Given the description of an element on the screen output the (x, y) to click on. 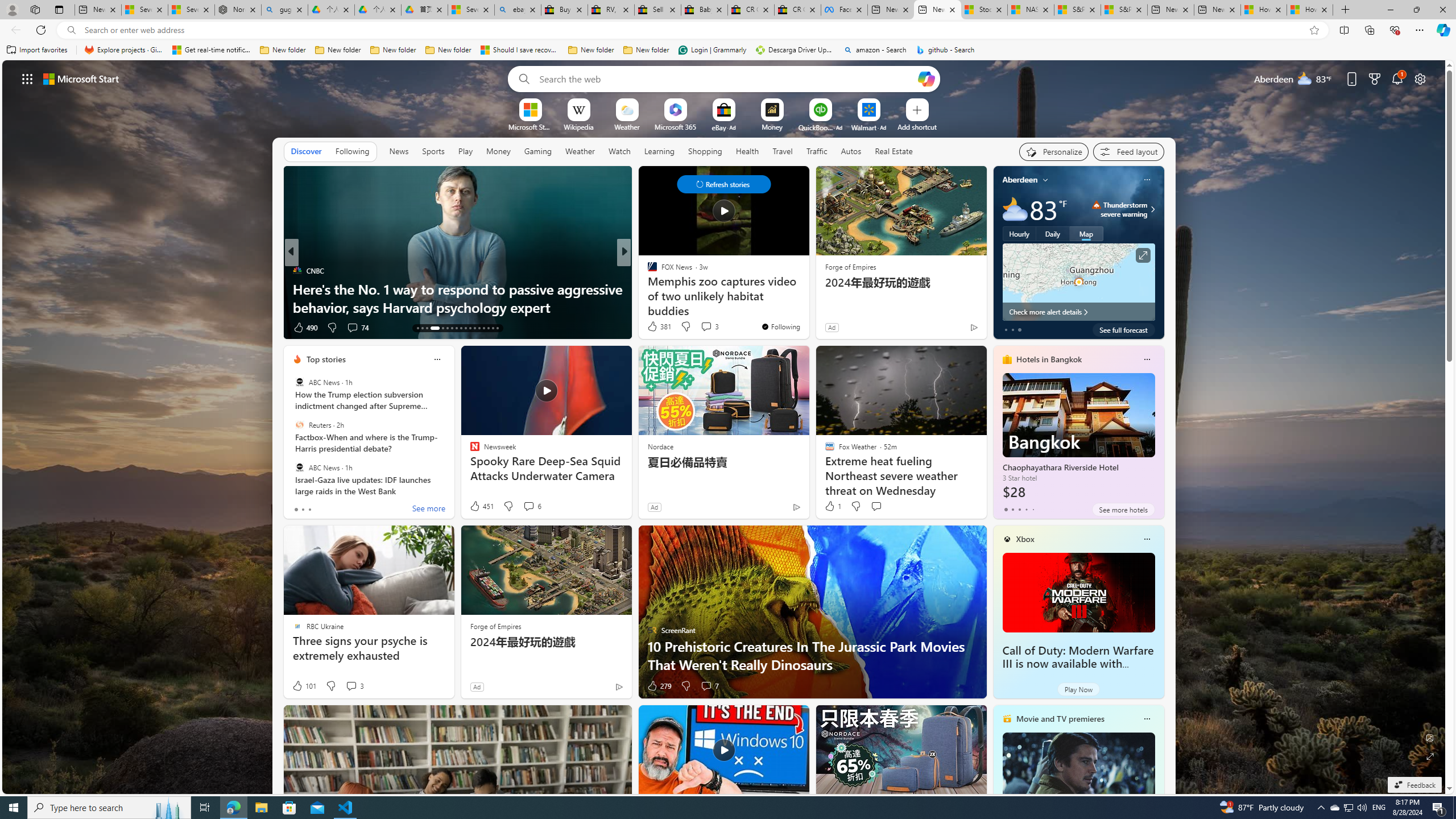
S&P 500, Nasdaq end lower, weighed by Nvidia dip | Watch (1123, 9)
Baby Keepsakes & Announcements for sale | eBay (703, 9)
guge yunpan - Search (284, 9)
16 Like (303, 327)
Thunderstorm - Severe Thunderstorm severe warning (1119, 208)
Health (746, 151)
Map (1085, 233)
Notifications (1397, 78)
AutomationID: tab-27 (488, 328)
Gaming (537, 151)
